Given the description of an element on the screen output the (x, y) to click on. 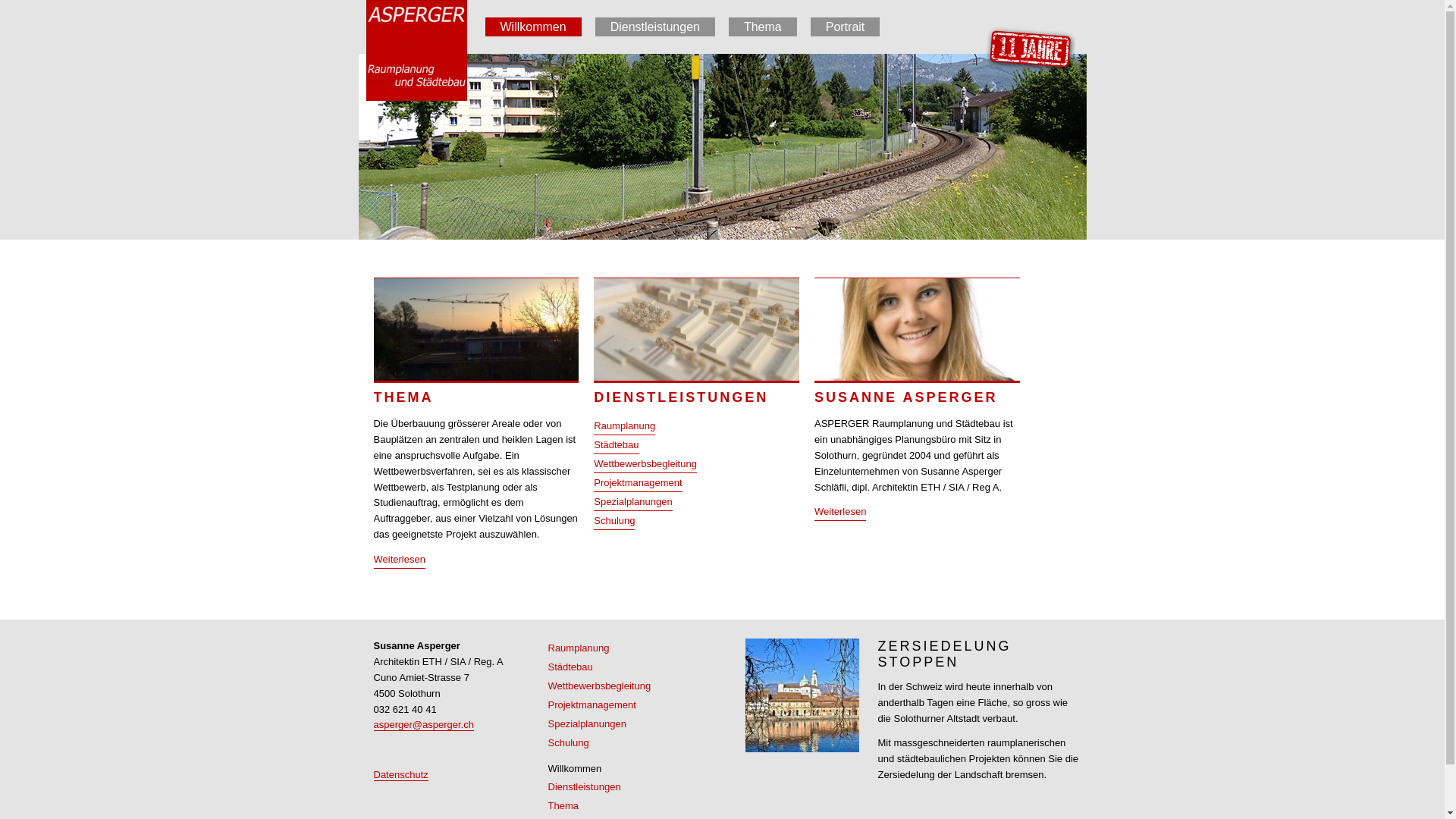
Spezialplanungen Element type: text (632, 503)
Thema Element type: text (762, 26)
Schulung Element type: text (567, 742)
Raumplanung Element type: text (624, 427)
Spezialplanungen Element type: text (586, 723)
Weiterlesen Element type: text (398, 560)
Projektmanagement Element type: text (591, 704)
Raumplanung Element type: text (577, 647)
DIENSTLEISTUNGEN Element type: text (696, 397)
Datenschutz Element type: text (400, 774)
Projektmanagement Element type: text (637, 484)
Schulung Element type: text (613, 522)
Dienstleistungen Element type: text (655, 26)
Dienstleistungen Element type: text (583, 786)
Thema Element type: text (562, 805)
asperger@asperger.ch Element type: text (423, 724)
Wettbewerbsbegleitung Element type: text (598, 685)
Wettbewerbsbegleitung Element type: text (644, 465)
Portrait Element type: text (845, 26)
Weiterlesen Element type: text (840, 512)
